Given the description of an element on the screen output the (x, y) to click on. 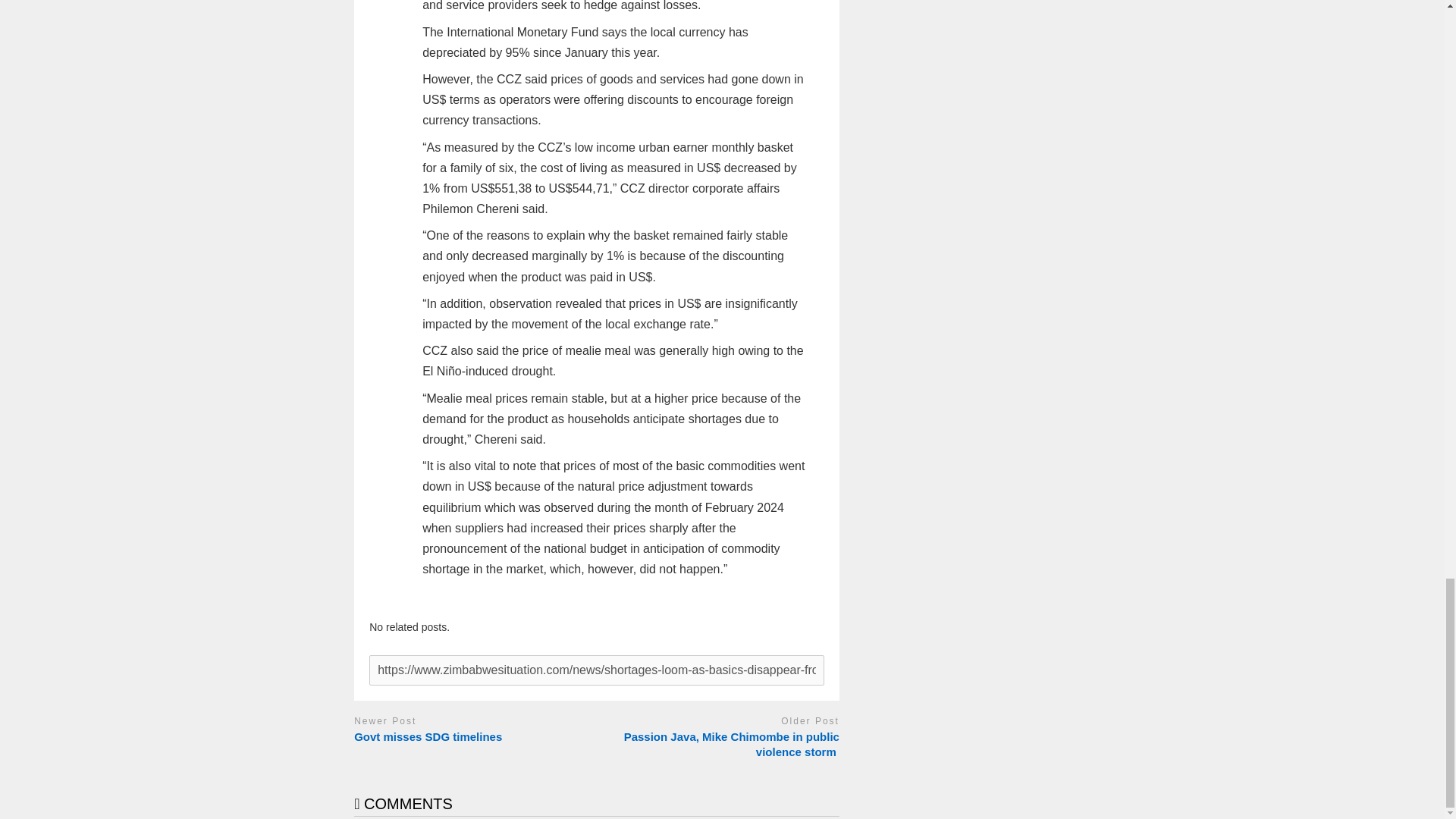
Passion Java, Mike Chimombe in public violence storm  (722, 744)
Govt misses SDG timelines  (471, 736)
